Given the description of an element on the screen output the (x, y) to click on. 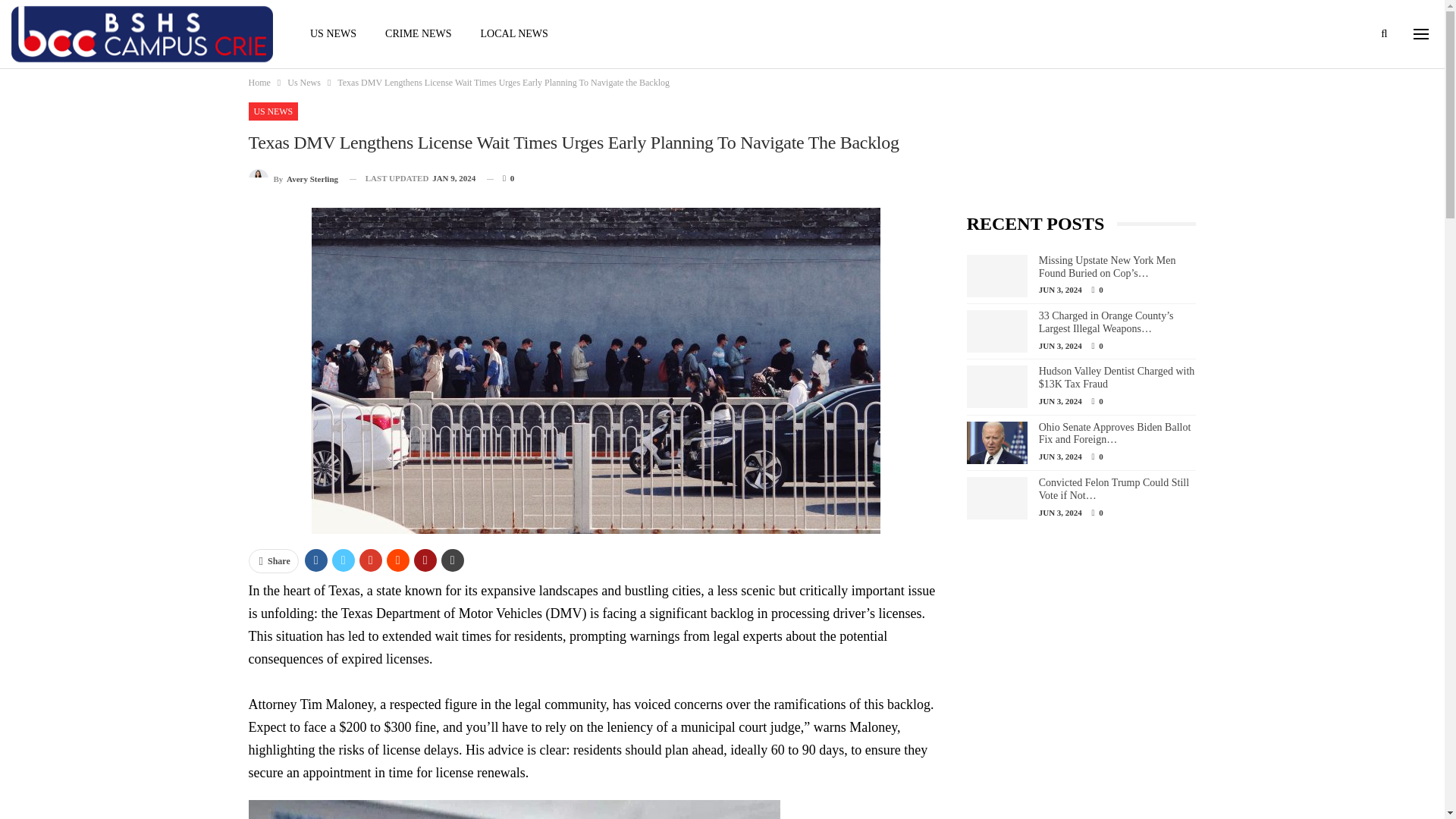
US NEWS (333, 33)
Home (259, 82)
0 (499, 178)
US NEWS (273, 111)
CRIME NEWS (418, 33)
Browse Author Articles (293, 178)
LOCAL NEWS (513, 33)
Us News (303, 82)
By Avery Sterling (293, 178)
